Given the description of an element on the screen output the (x, y) to click on. 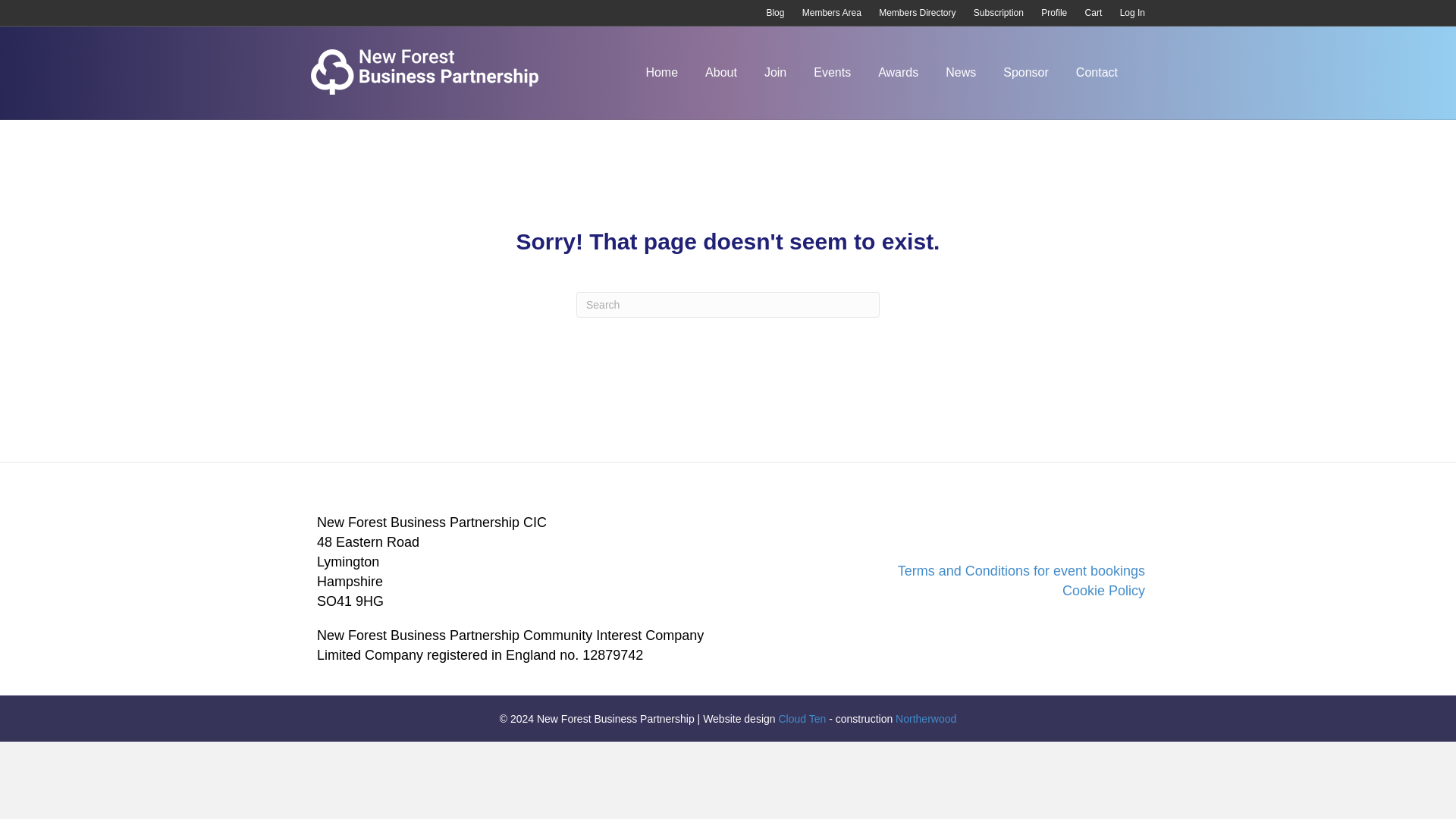
Subscription (998, 13)
Members Directory (916, 13)
Profile (1053, 13)
Type and press Enter to search. (727, 304)
Members Area (831, 13)
Cart (1093, 13)
Log In (1132, 13)
Blog (775, 13)
